Given the description of an element on the screen output the (x, y) to click on. 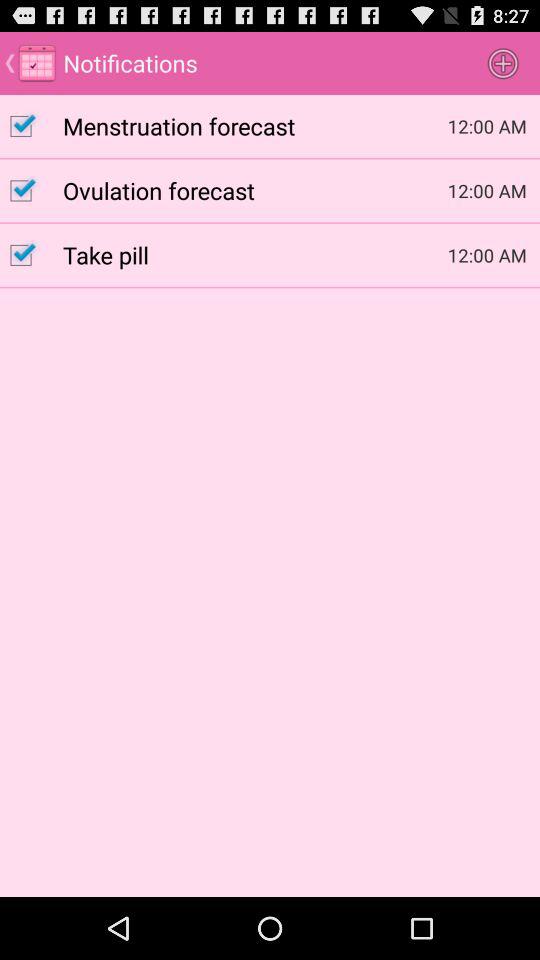
tap take pill icon (255, 254)
